Given the description of an element on the screen output the (x, y) to click on. 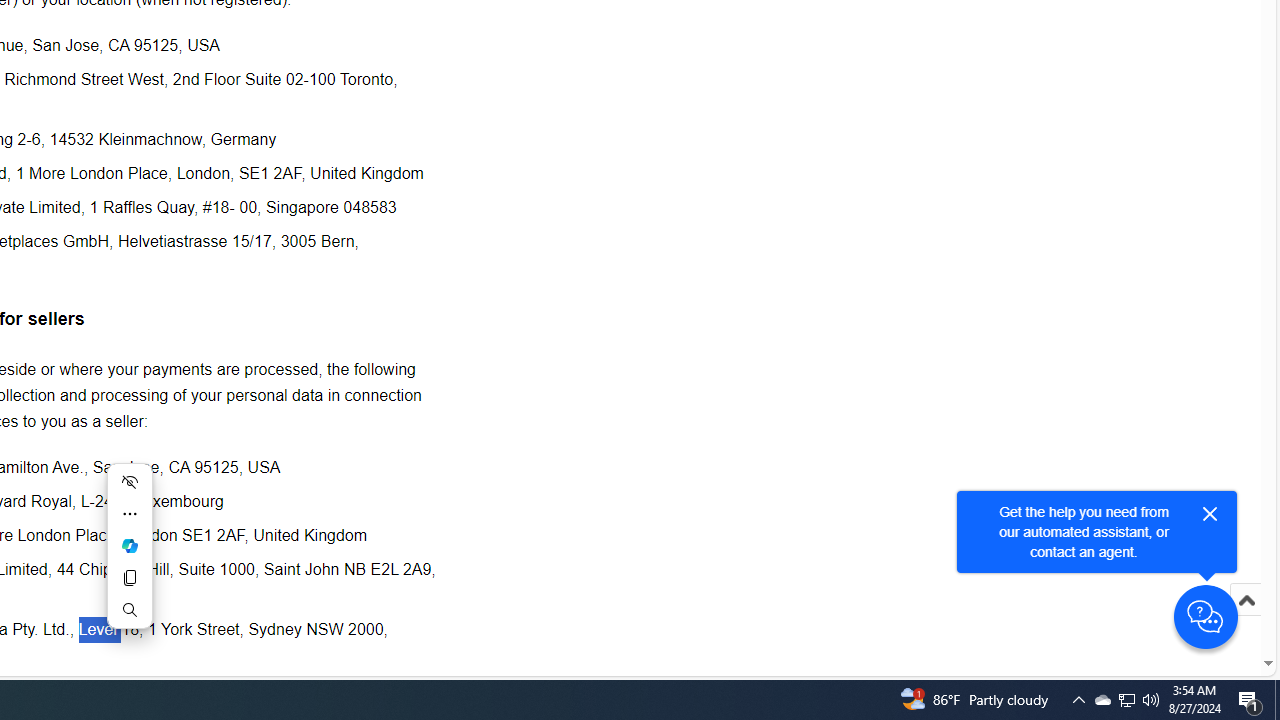
Scroll to top (1246, 620)
Hide menu (129, 481)
Copy (129, 578)
More actions (129, 513)
Ask Copilot (129, 545)
Mini menu on text selection (129, 557)
Scroll to top (1246, 599)
Mini menu on text selection (129, 545)
